Given the description of an element on the screen output the (x, y) to click on. 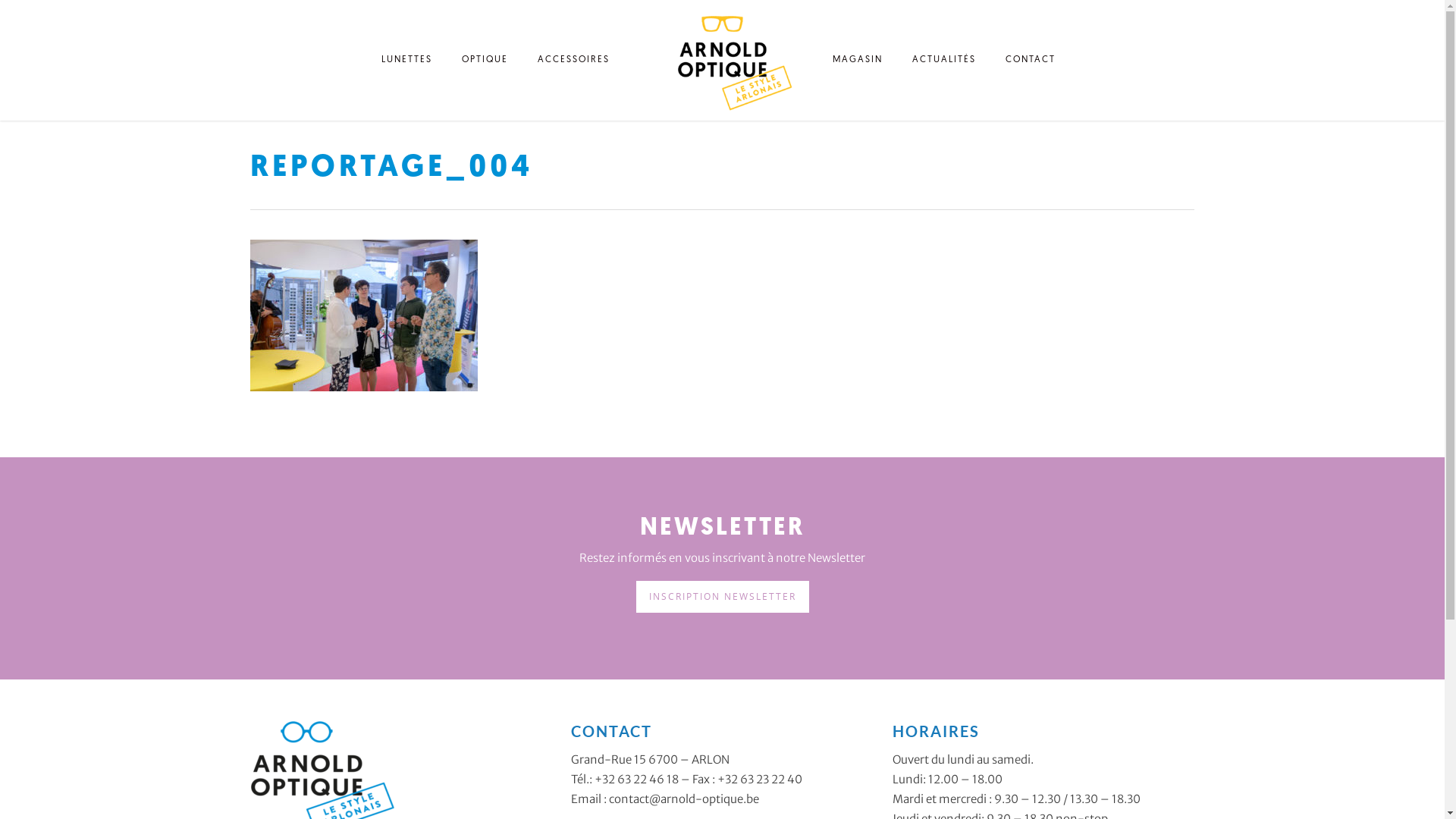
INSCRIPTION NEWSLETTER Element type: text (721, 596)
MAGASIN Element type: text (857, 63)
CONTACT Element type: text (1030, 63)
ACCESSOIRES Element type: text (573, 63)
contact@arnold-optique.be Element type: text (683, 798)
OPTIQUE Element type: text (484, 63)
LUNETTES Element type: text (406, 63)
